Given the description of an element on the screen output the (x, y) to click on. 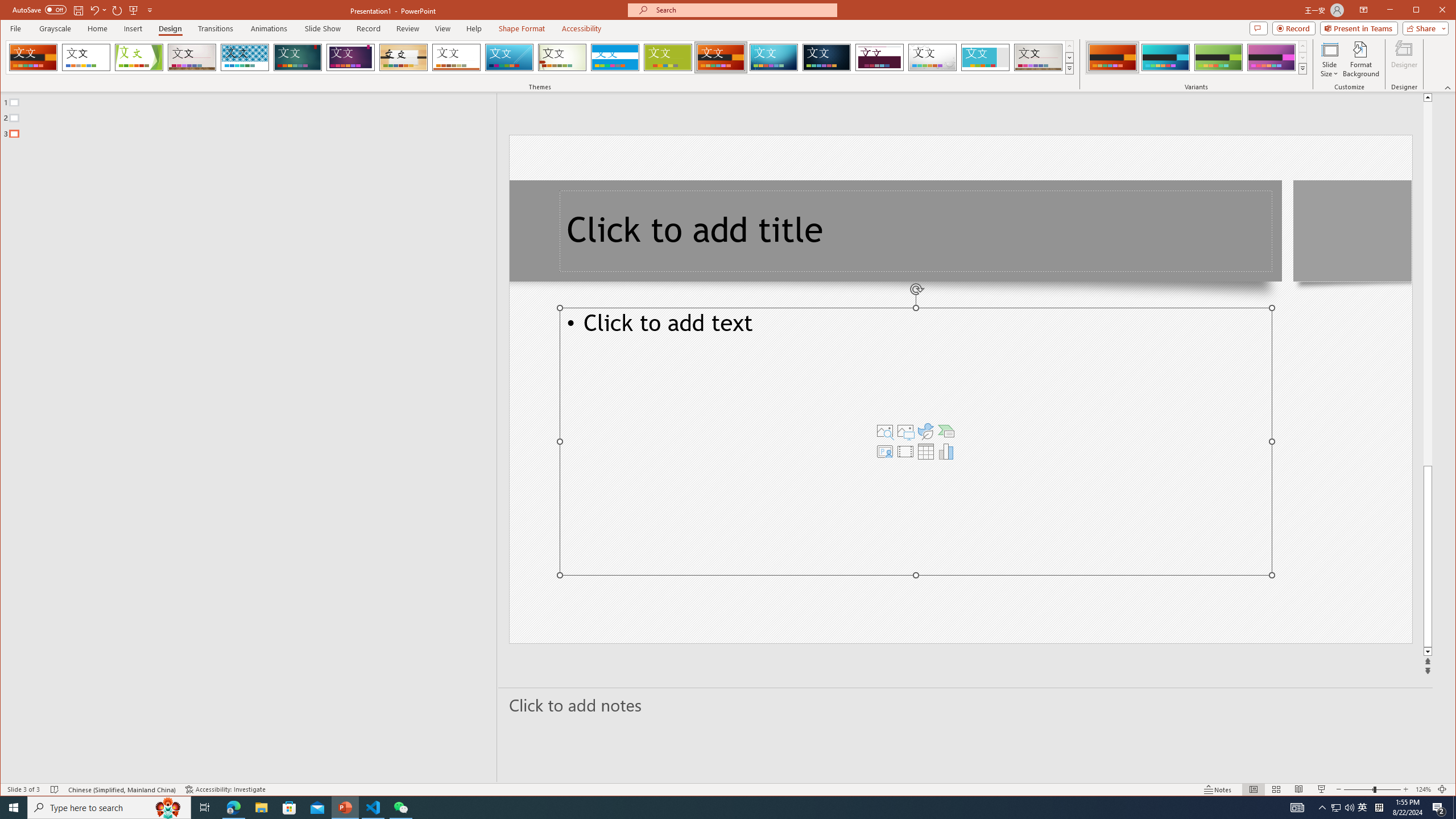
Content Placeholder (915, 440)
Integral (244, 57)
Droplet (932, 57)
Berlin Variant 4 (1270, 57)
Damask (826, 57)
